Given the description of an element on the screen output the (x, y) to click on. 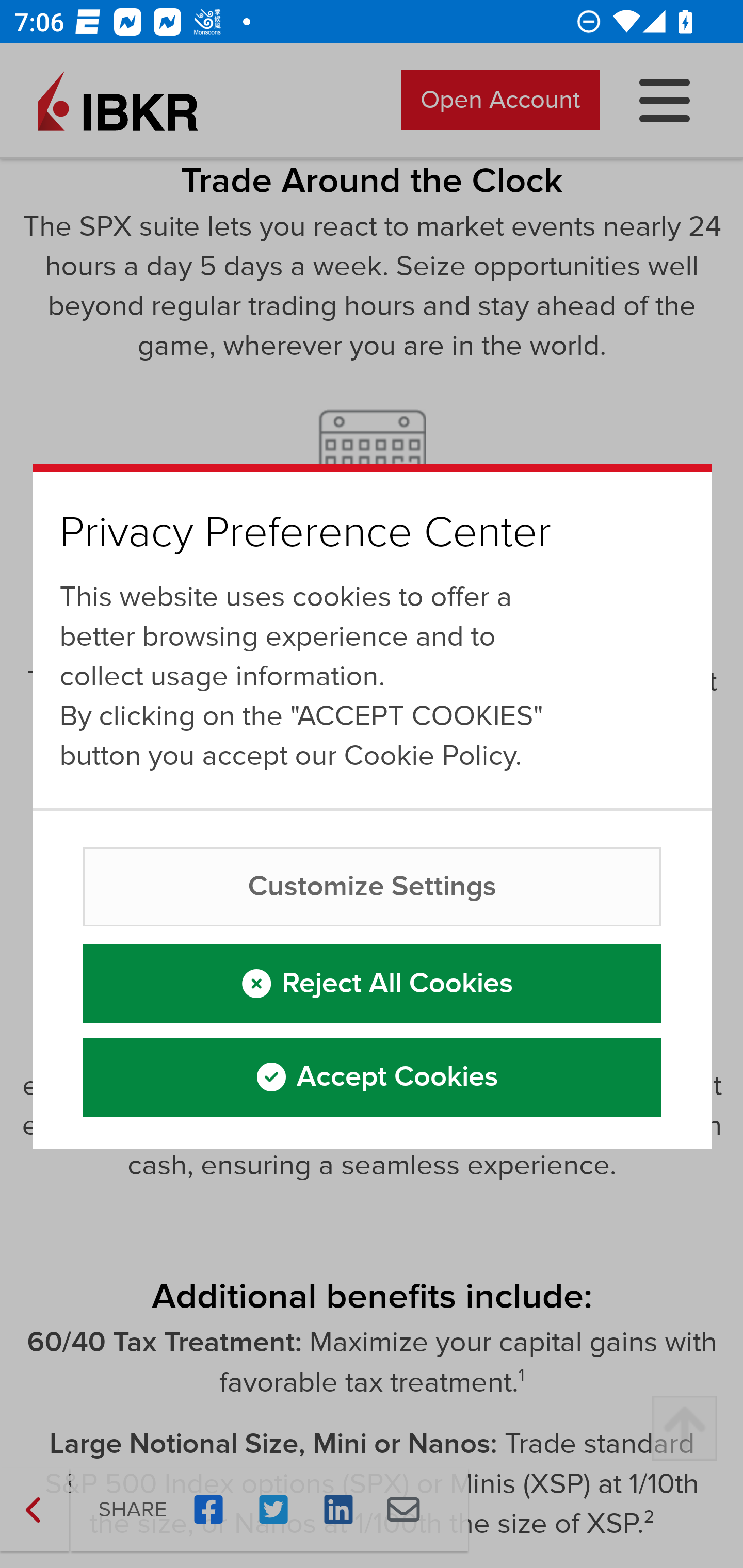
Customize Settings (372, 887)
 Reject All Cookies  Reject All Cookies (372, 984)
 Accept Cookies  Accept Cookies (372, 1078)
